Given the description of an element on the screen output the (x, y) to click on. 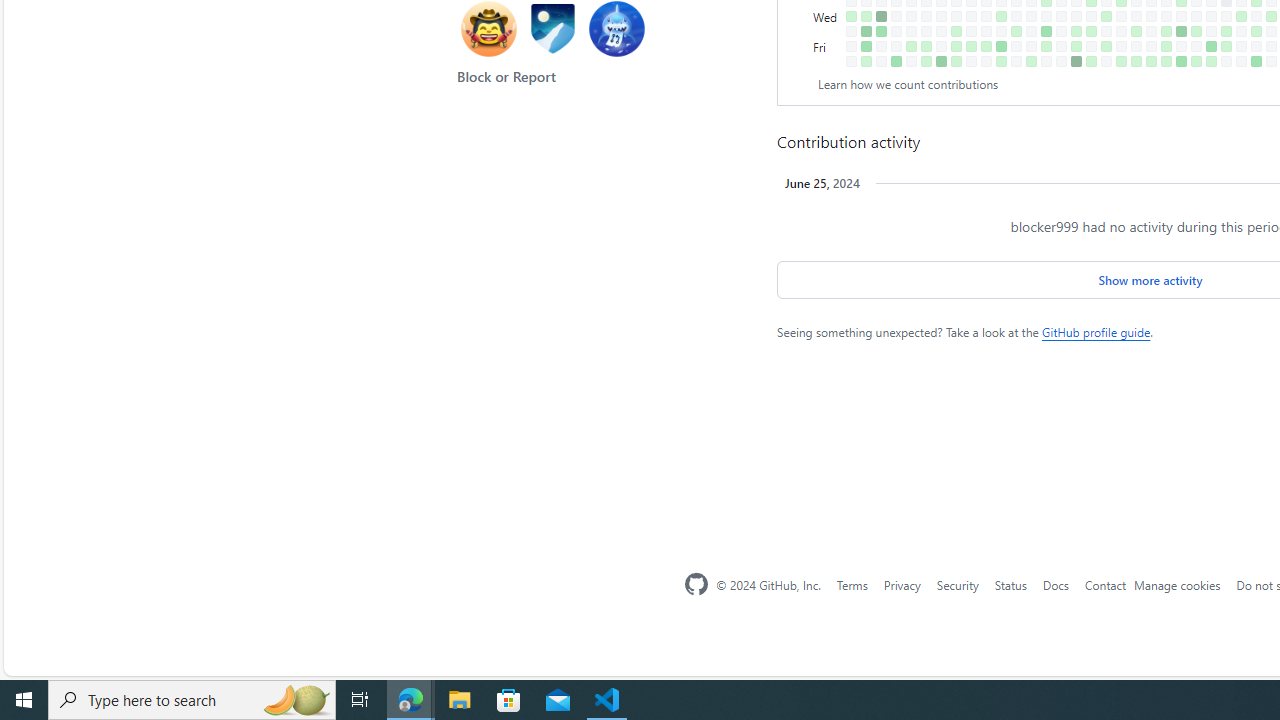
 cloud credits (934, 315)
Banco Santander (875, 639)
Narayan Ammachchi (704, 107)
